Given the description of an element on the screen output the (x, y) to click on. 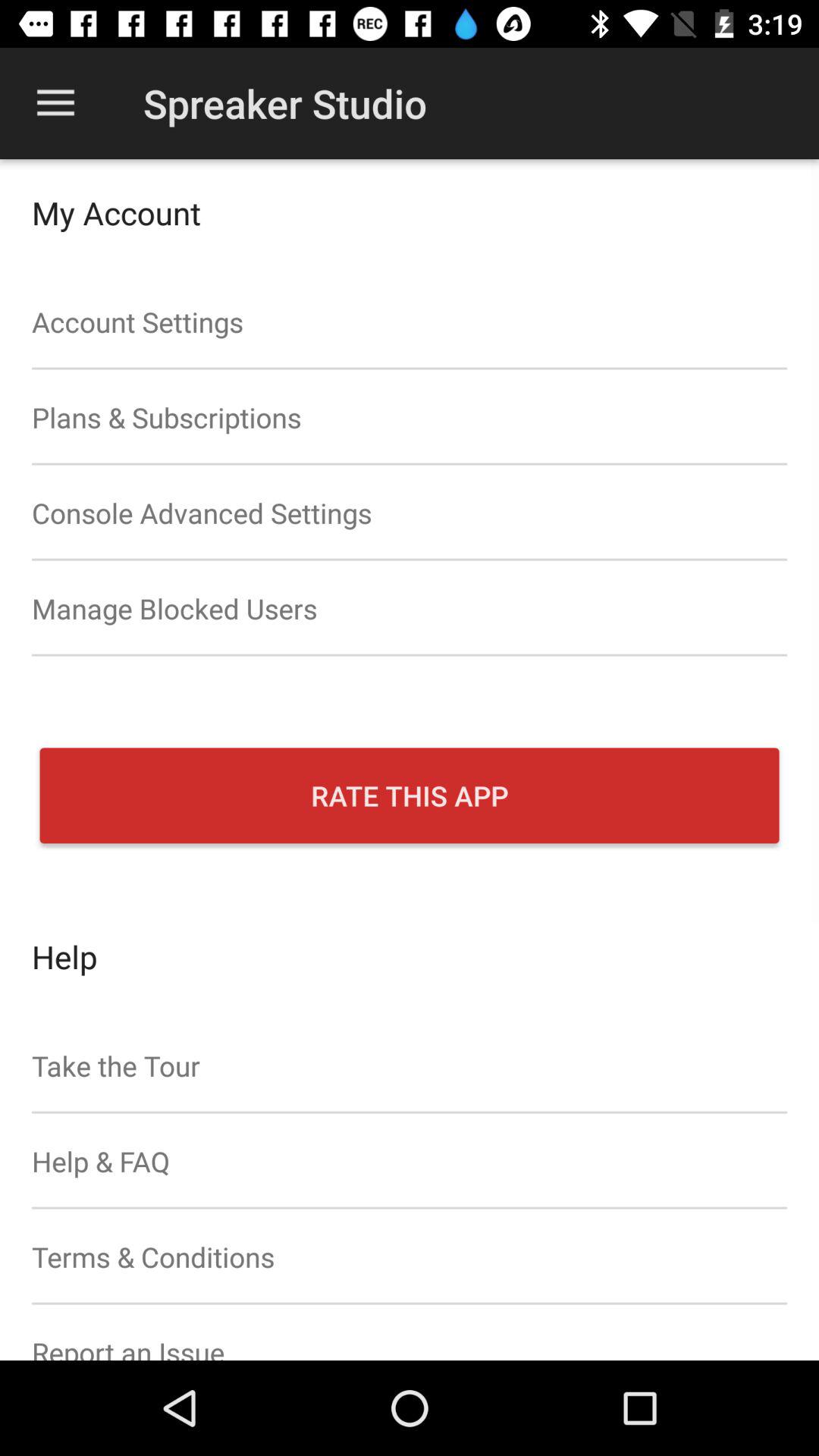
choose the item at the top left corner (55, 103)
